Given the description of an element on the screen output the (x, y) to click on. 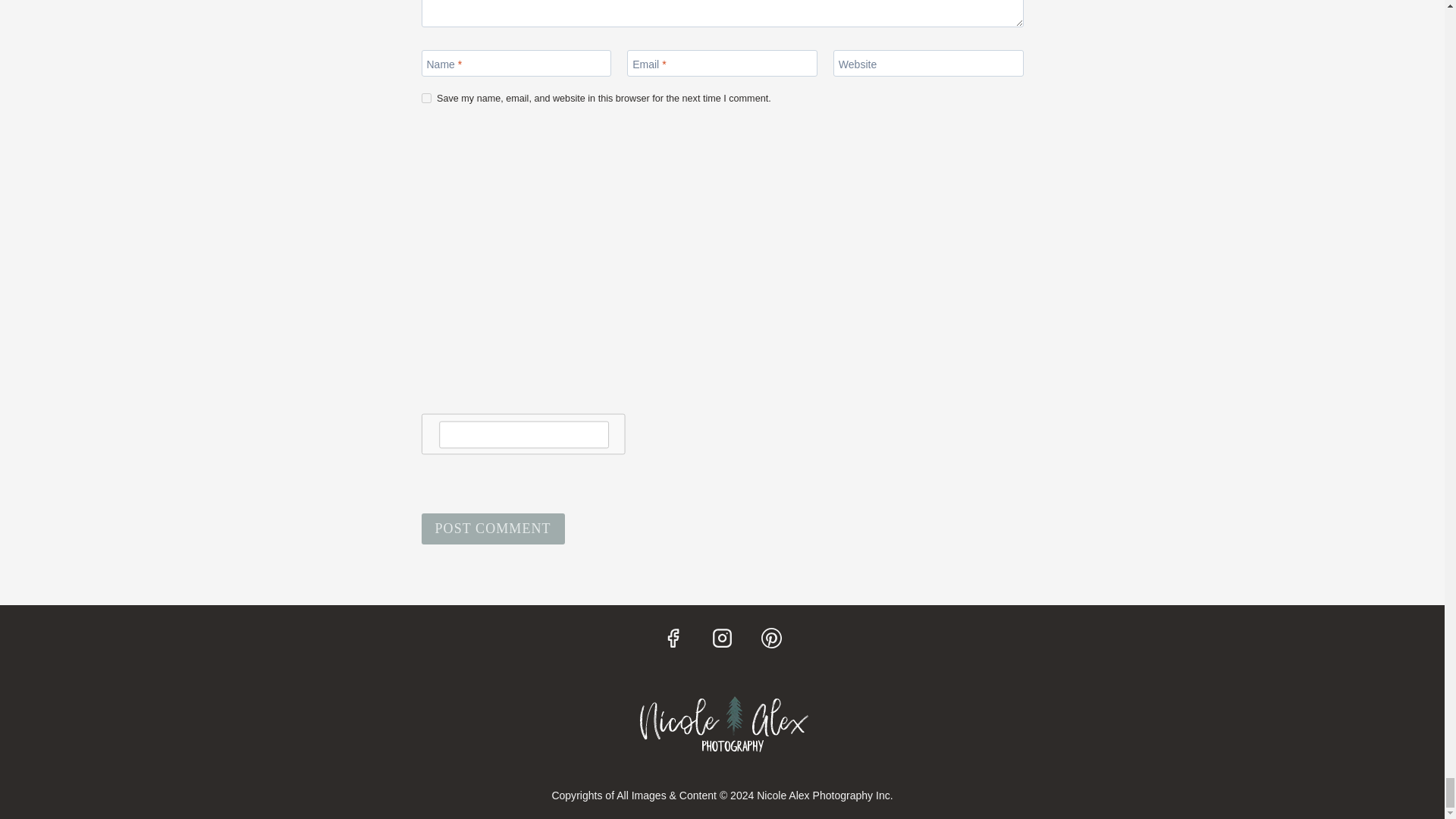
Post Comment (493, 528)
yes (426, 98)
